Given the description of an element on the screen output the (x, y) to click on. 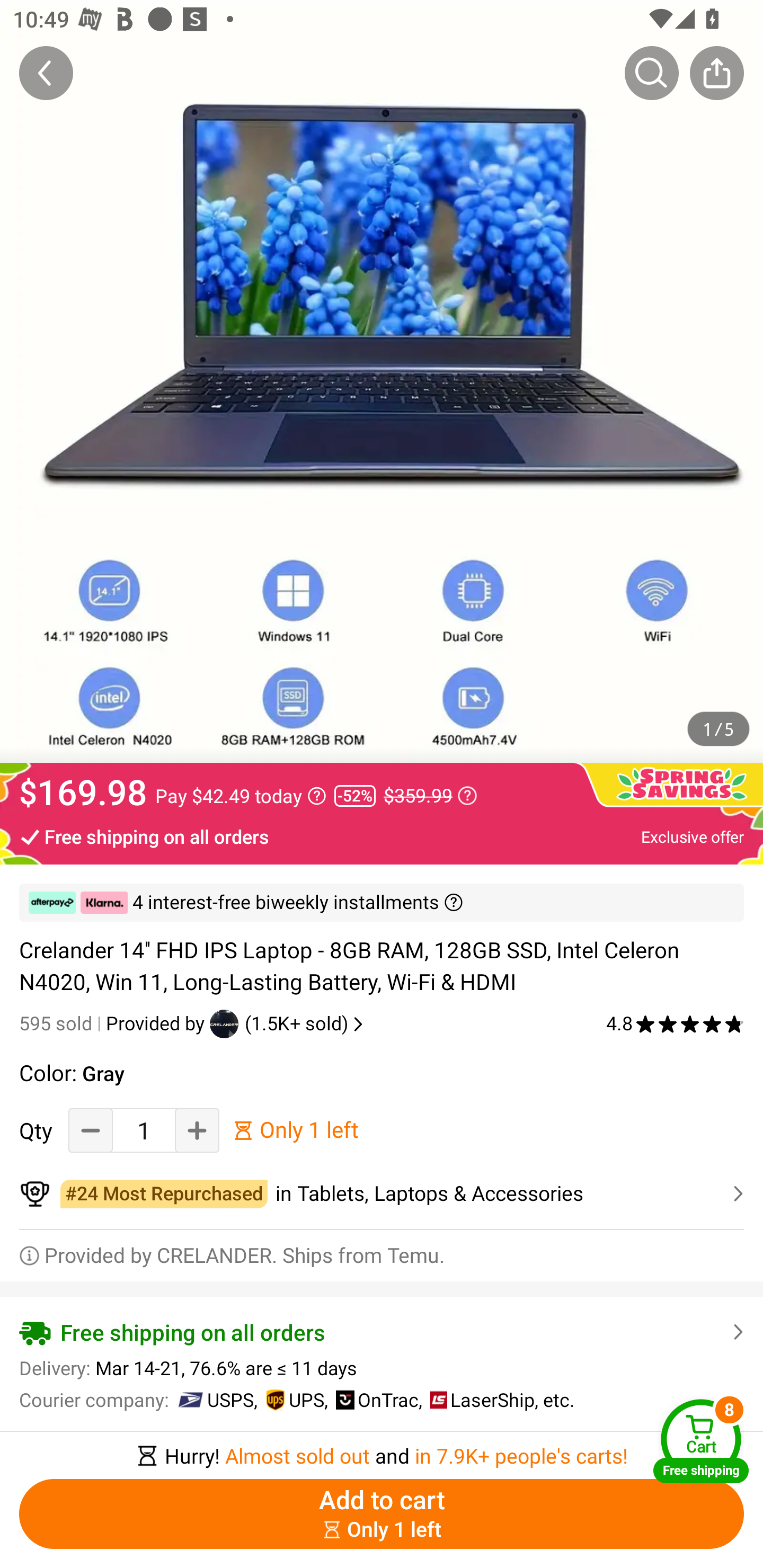
Back (46, 72)
Share (716, 72)
Pay $42.49 today   (240, 795)
Free shipping on all orders Exclusive offer (381, 836)
￼ ￼ 4 interest-free biweekly installments ￼ (381, 902)
595 sold Provided by  (114, 1023)
4.8 (674, 1023)
Decrease Quantity Button (90, 1130)
1 (143, 1130)
Add Quantity button (196, 1130)
￼￼in Tablets, Laptops & Accessories (381, 1193)
Cart Free shipping Cart (701, 1440)
Add to cart ￼￼Only 1 left (381, 1513)
